Given the description of an element on the screen output the (x, y) to click on. 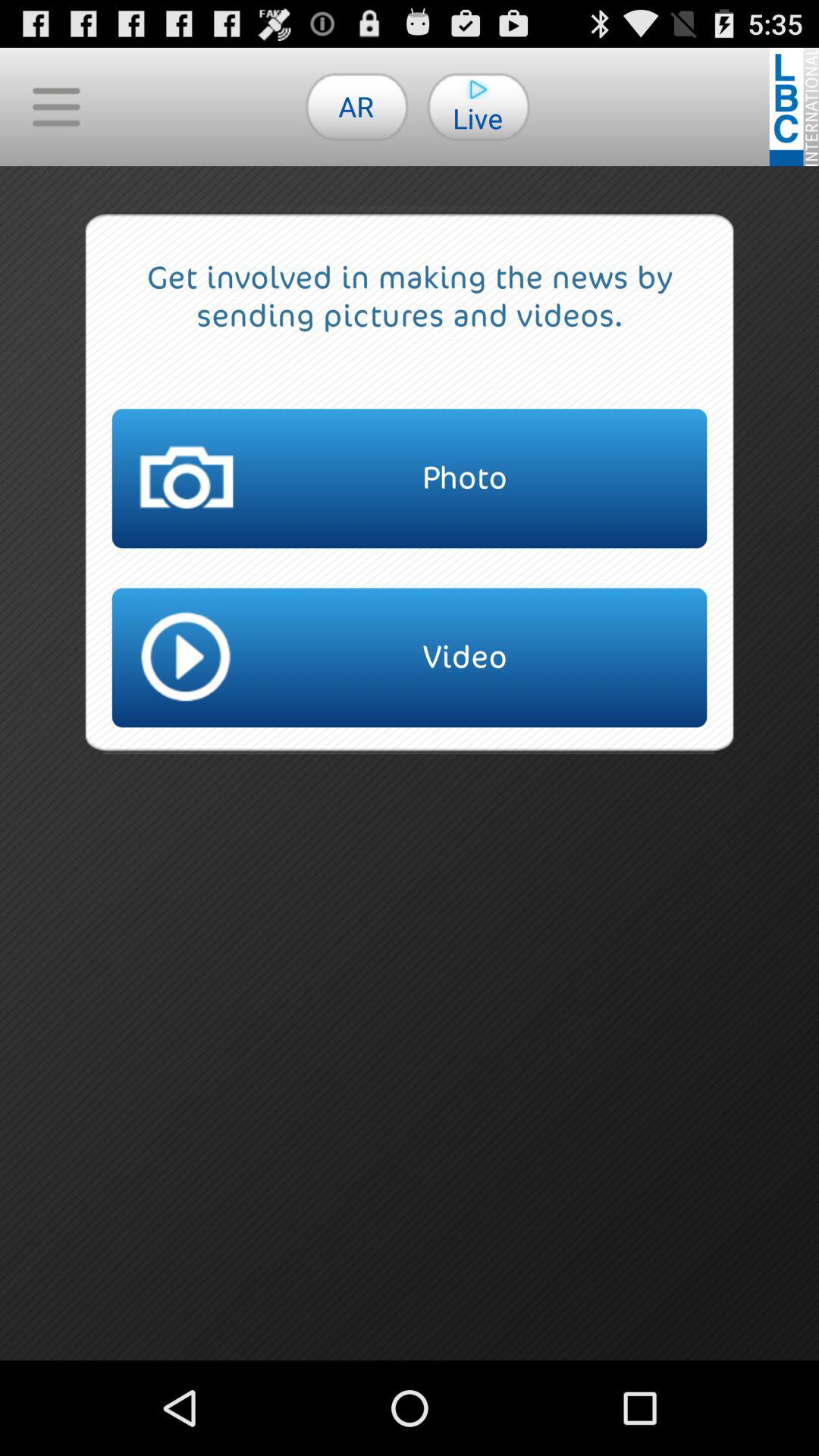
flip to video item (409, 657)
